Given the description of an element on the screen output the (x, y) to click on. 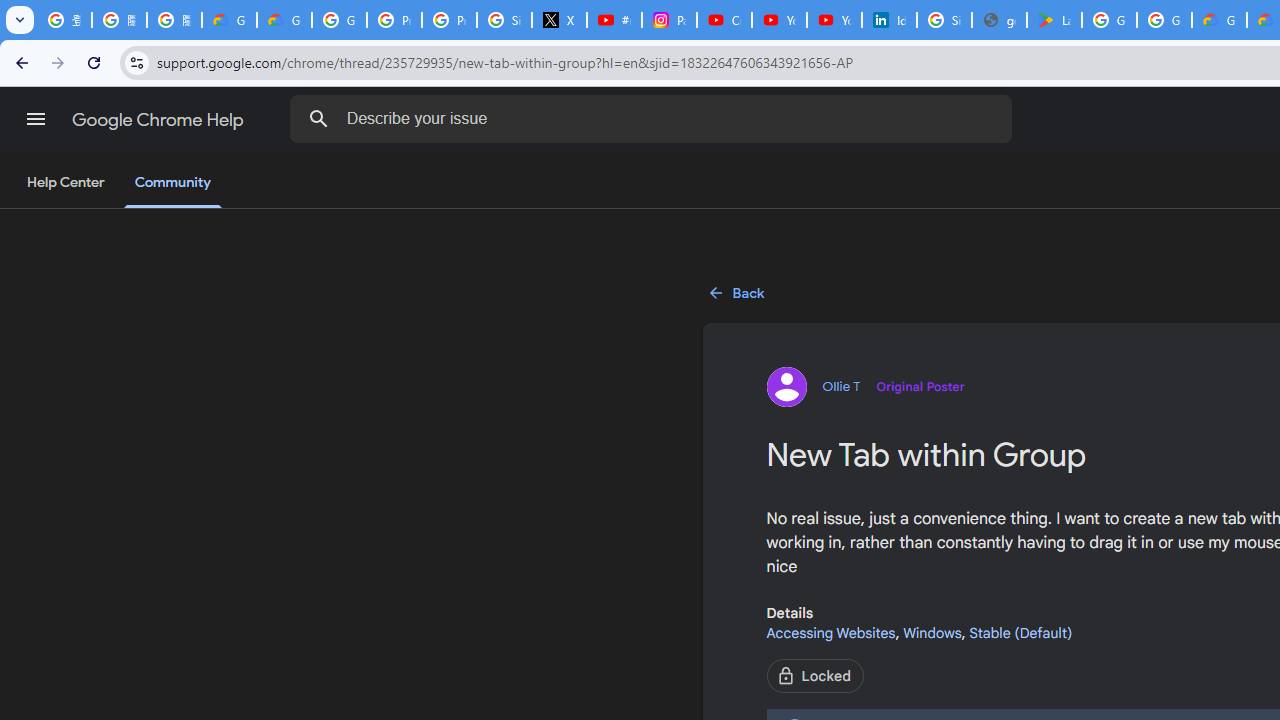
Privacy Help Center - Policies Help (394, 20)
Sign in - Google Accounts (504, 20)
Sign in - Google Accounts (943, 20)
Search Help Center (318, 118)
View profile for Ollie T (865, 386)
Privacy Help Center - Policies Help (449, 20)
Community (171, 183)
Main menu (35, 119)
